Given the description of an element on the screen output the (x, y) to click on. 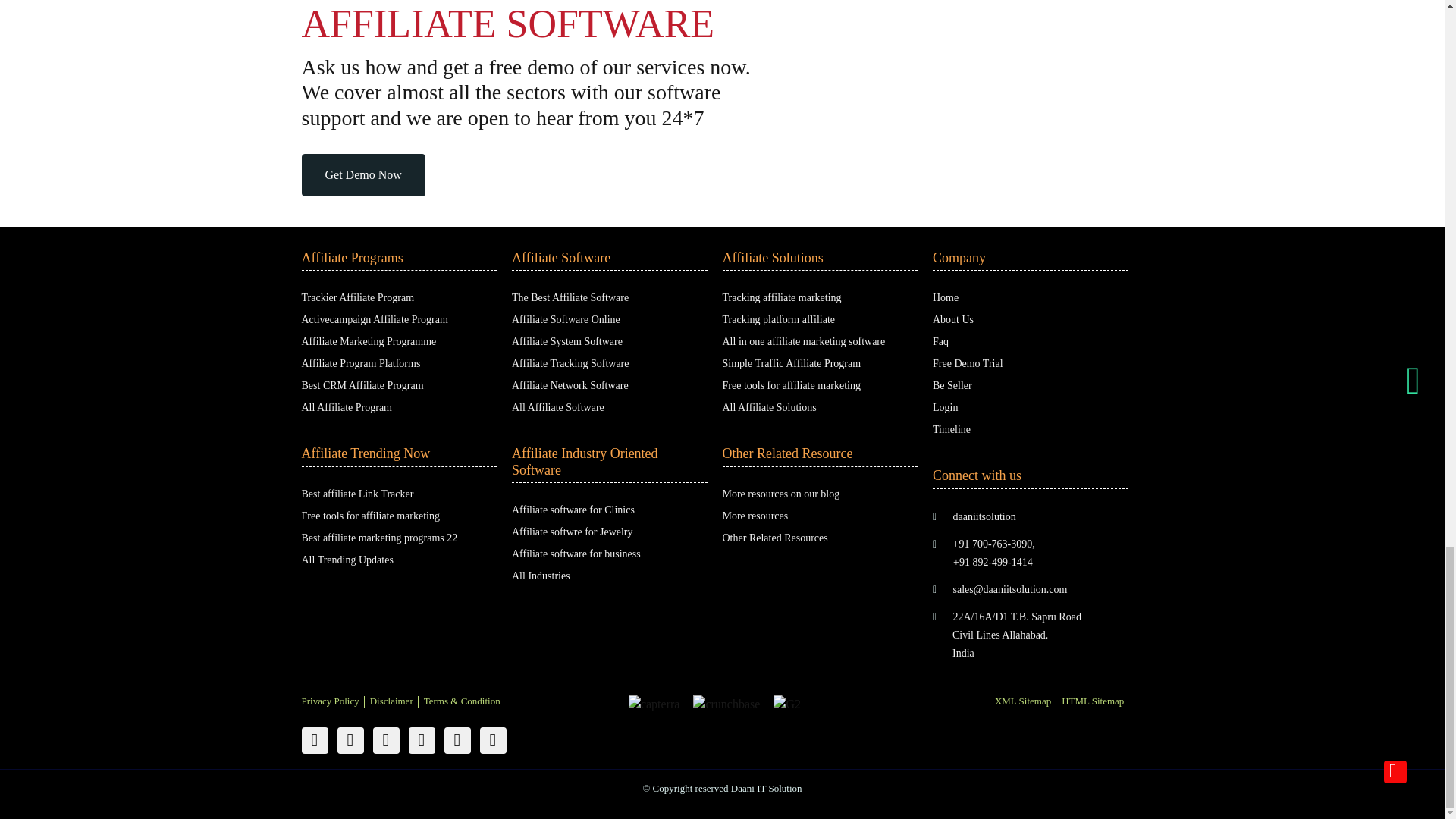
All Affiliate Program (347, 407)
Get Demo Now (363, 174)
Affiliate Marketing Programme (368, 341)
Trackier Affiliate Program (357, 297)
Activecampaign Affiliate Program (374, 319)
Affiliate Program Platforms (360, 363)
Best CRM Affiliate Program (362, 385)
Best affiliate Link Tracker (357, 493)
